Given the description of an element on the screen output the (x, y) to click on. 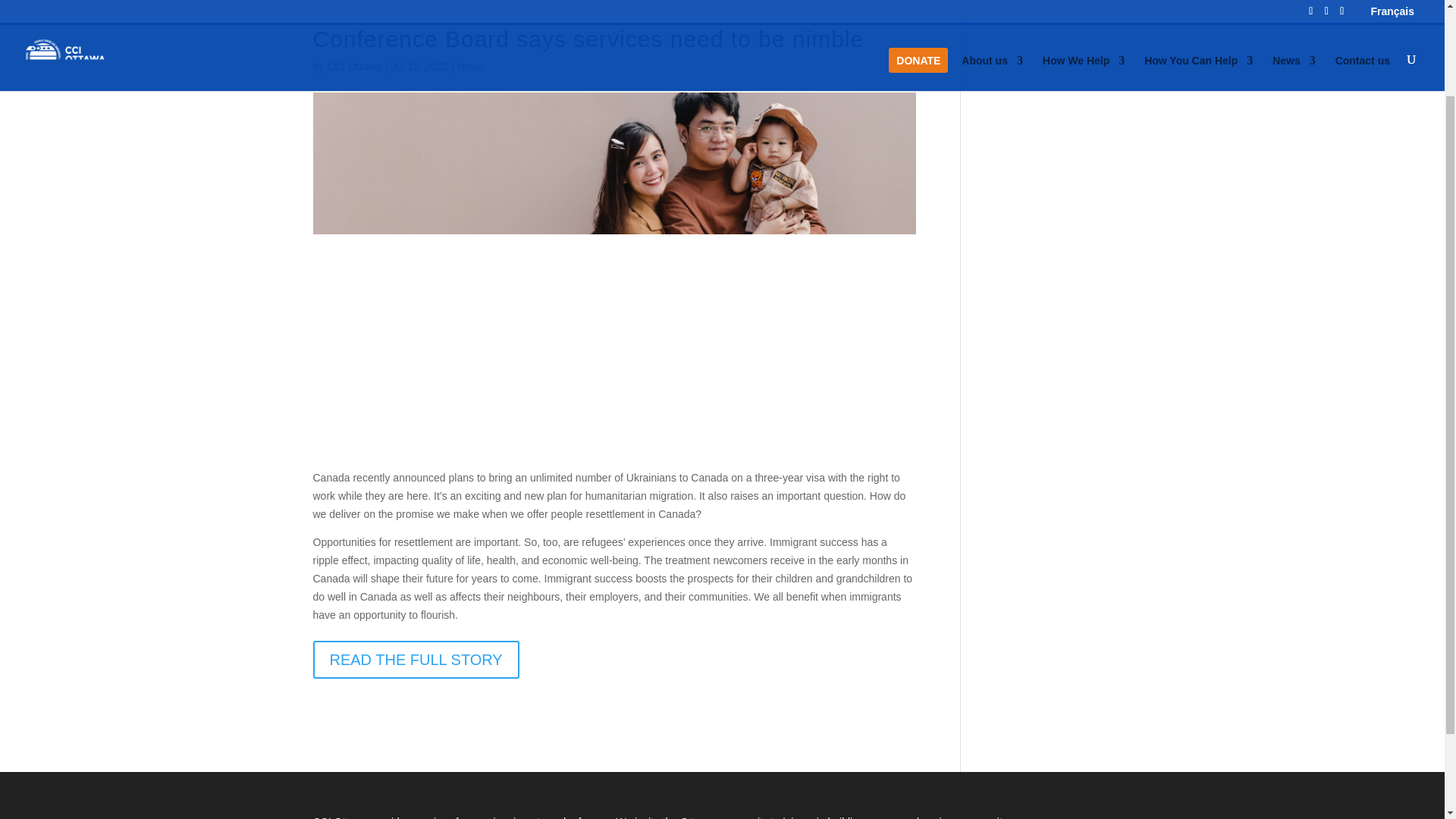
Posts by CCI Ottawa (353, 66)
News (470, 66)
READ THE FULL STORY (415, 659)
CCI Ottawa (353, 66)
